Given the description of an element on the screen output the (x, y) to click on. 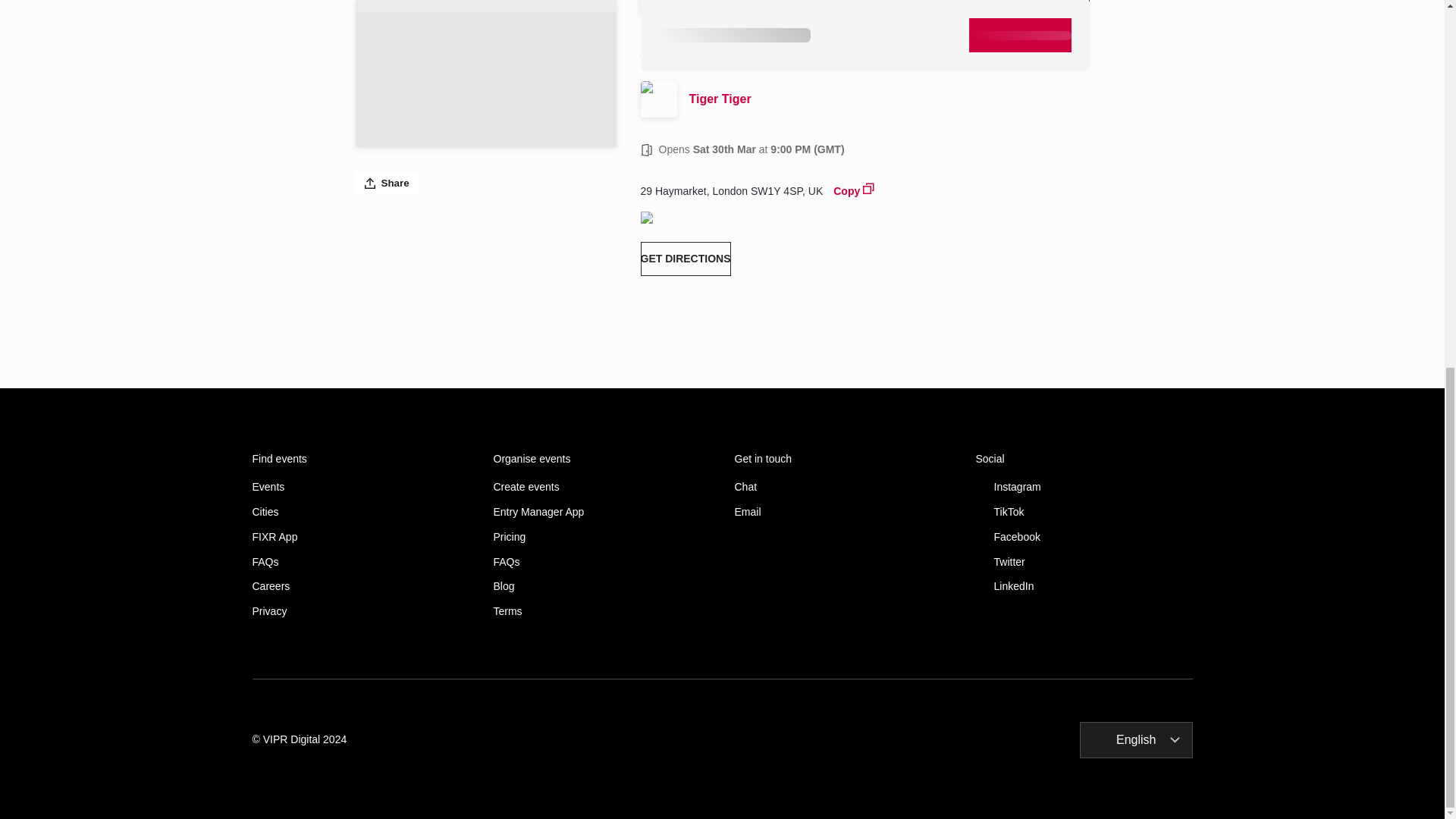
GET DIRECTIONS (685, 258)
TikTok (1083, 512)
Privacy (359, 611)
Email (841, 512)
Blog (601, 585)
FAQs (601, 562)
FOLLOW (1066, 6)
Chat (841, 486)
Create events (601, 486)
Instagram (1083, 486)
Twitter (1083, 562)
Tiger Tiger (859, 2)
Copy (853, 189)
Careers (359, 585)
Tiger Tiger (888, 99)
